Given the description of an element on the screen output the (x, y) to click on. 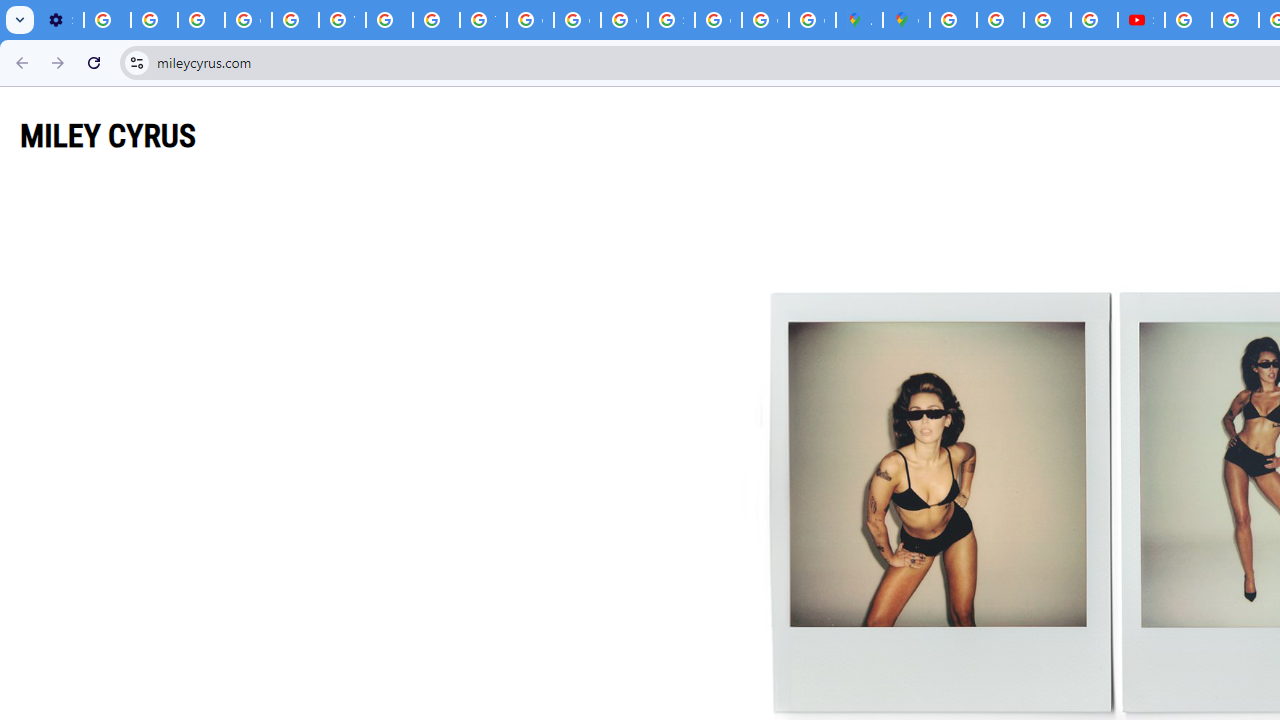
Privacy Help Center - Policies Help (999, 20)
Google Maps (906, 20)
Settings - Customize profile (60, 20)
Privacy Help Center - Policies Help (436, 20)
Privacy Help Center - Policies Help (294, 20)
YouTube (342, 20)
Subscriptions - YouTube (1140, 20)
Sign in - Google Accounts (671, 20)
